Given the description of an element on the screen output the (x, y) to click on. 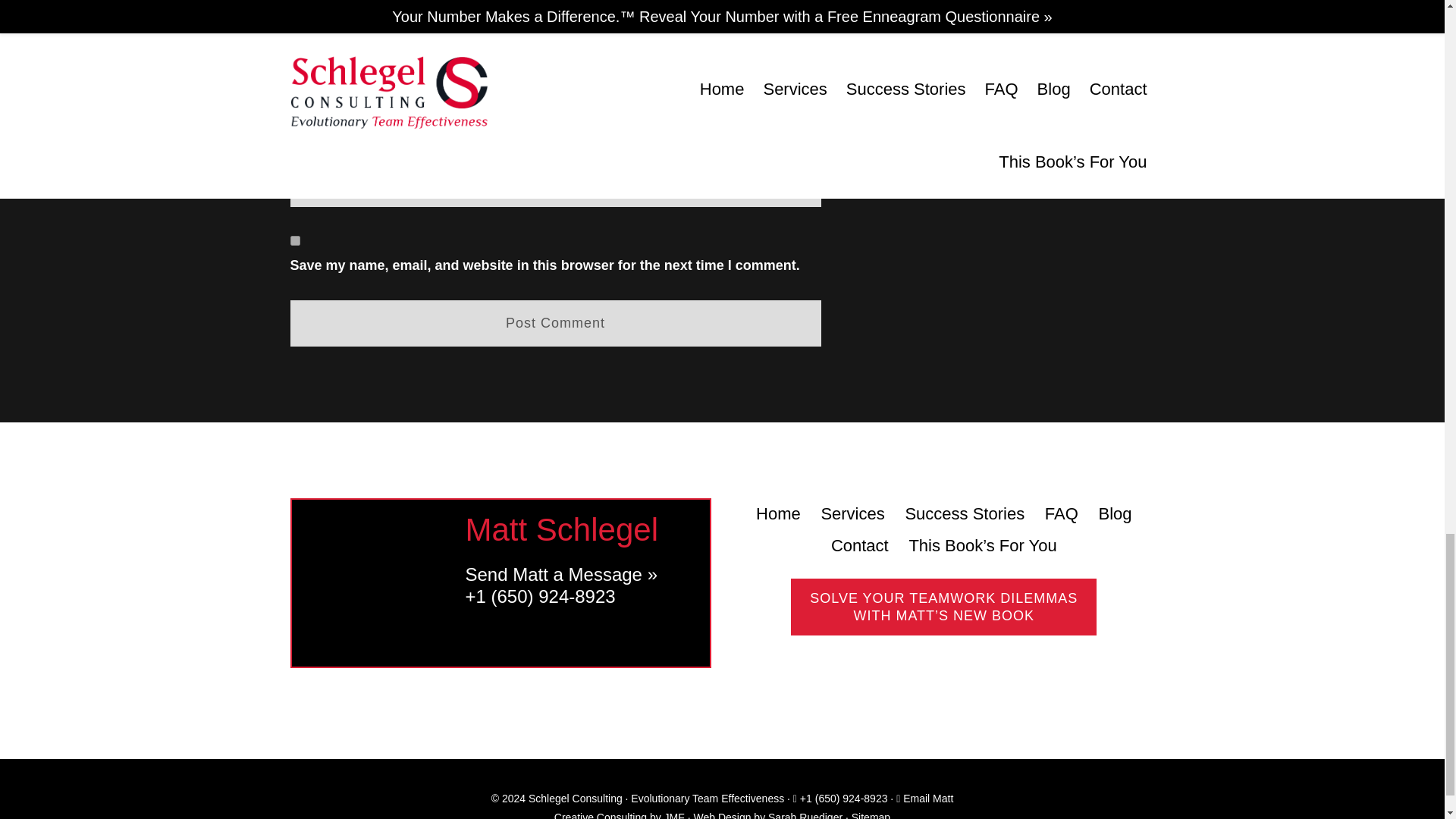
Services (851, 513)
Post Comment (555, 323)
yes (294, 240)
Post Comment (555, 323)
Home (778, 513)
Success Stories (964, 513)
